Given the description of an element on the screen output the (x, y) to click on. 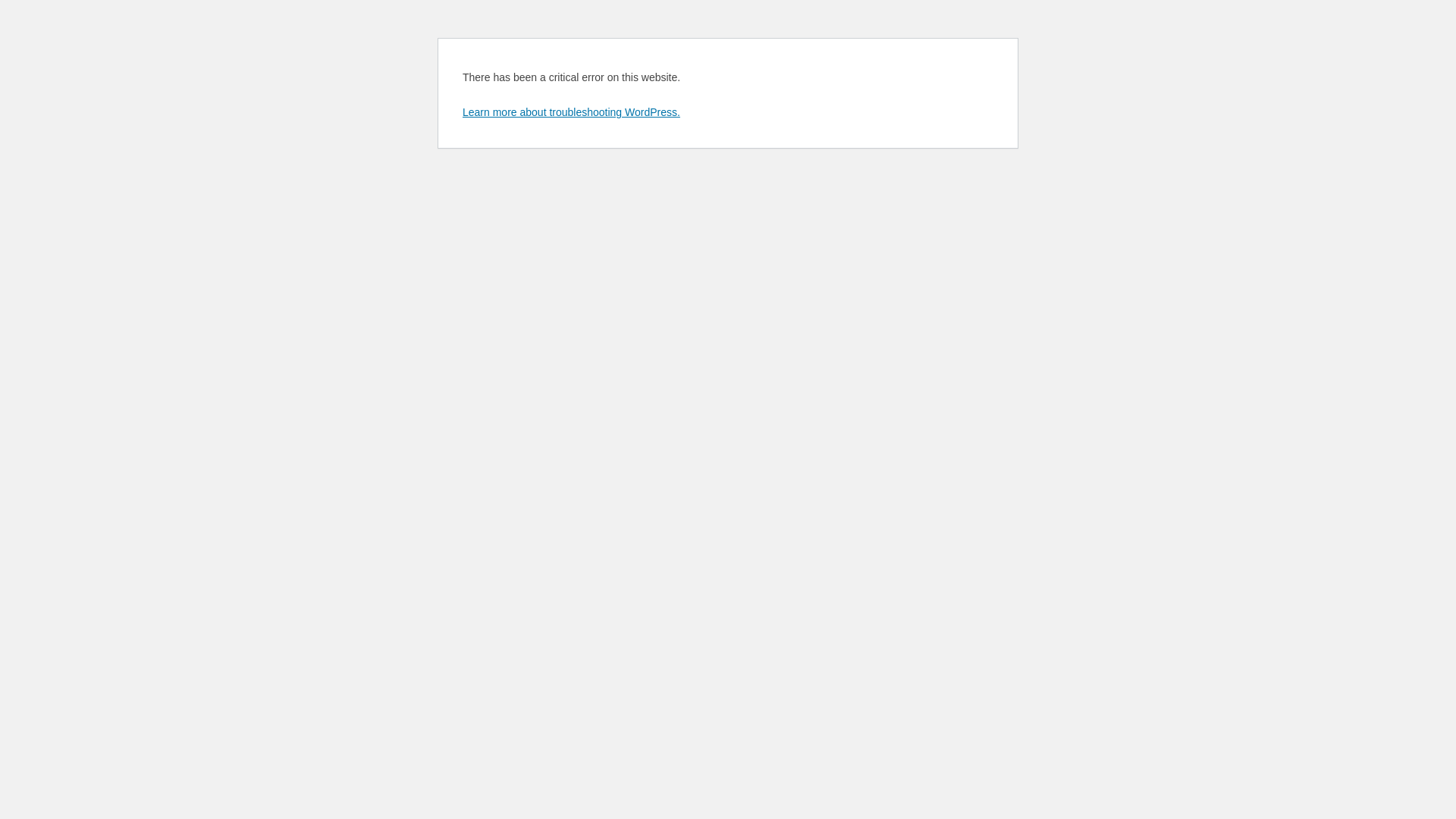
Learn more about troubleshooting WordPress. Element type: text (571, 112)
